Given the description of an element on the screen output the (x, y) to click on. 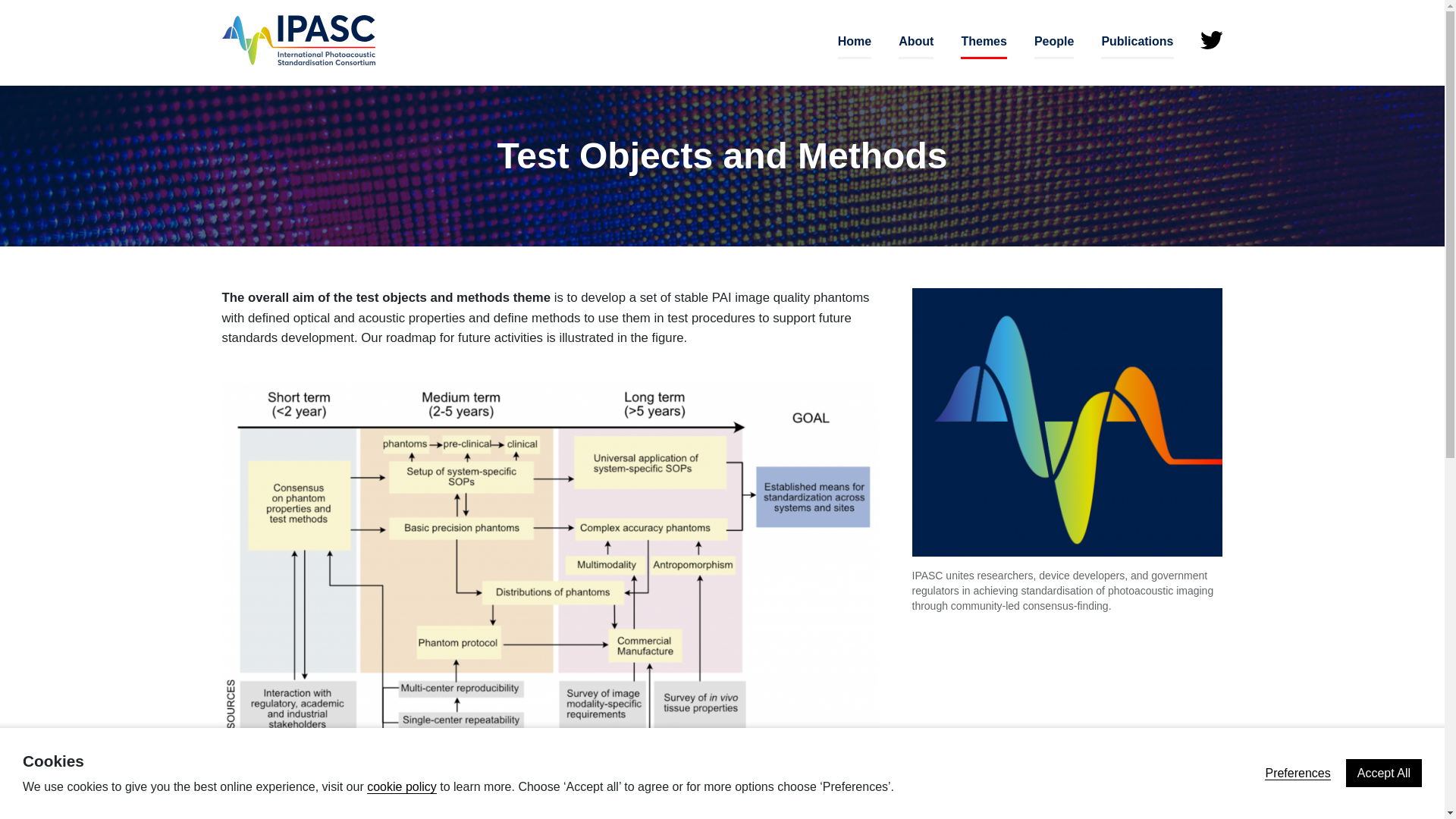
Publications (1136, 42)
About (915, 42)
People (1053, 42)
Accept All (1383, 773)
Preferences (1297, 773)
Themes (983, 42)
IPASC (297, 40)
cookie policy (401, 786)
Home (854, 42)
